Given the description of an element on the screen output the (x, y) to click on. 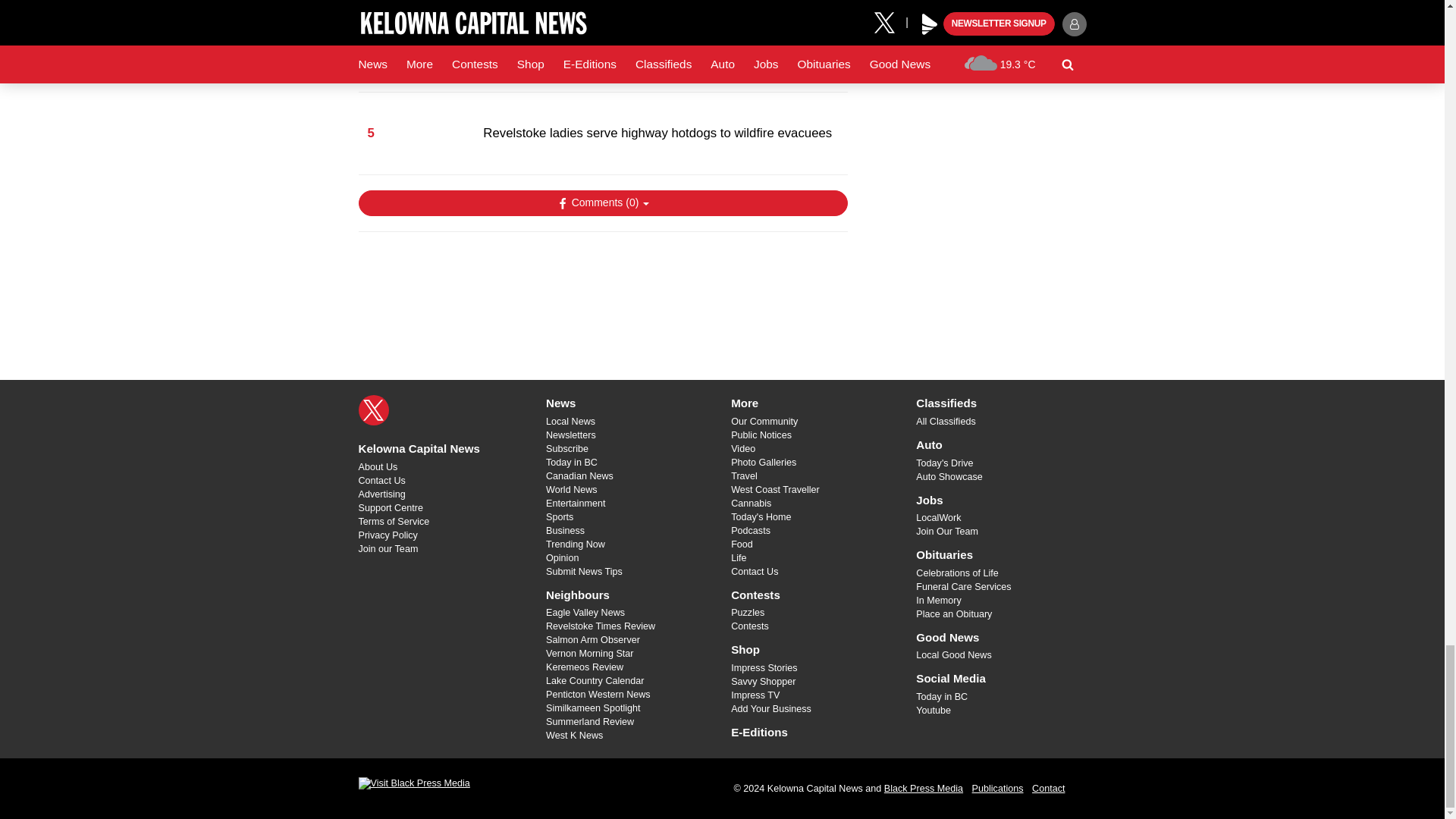
Has a gallery (1045, 300)
Has a gallery (980, 367)
Has a gallery (1026, 261)
